Given the description of an element on the screen output the (x, y) to click on. 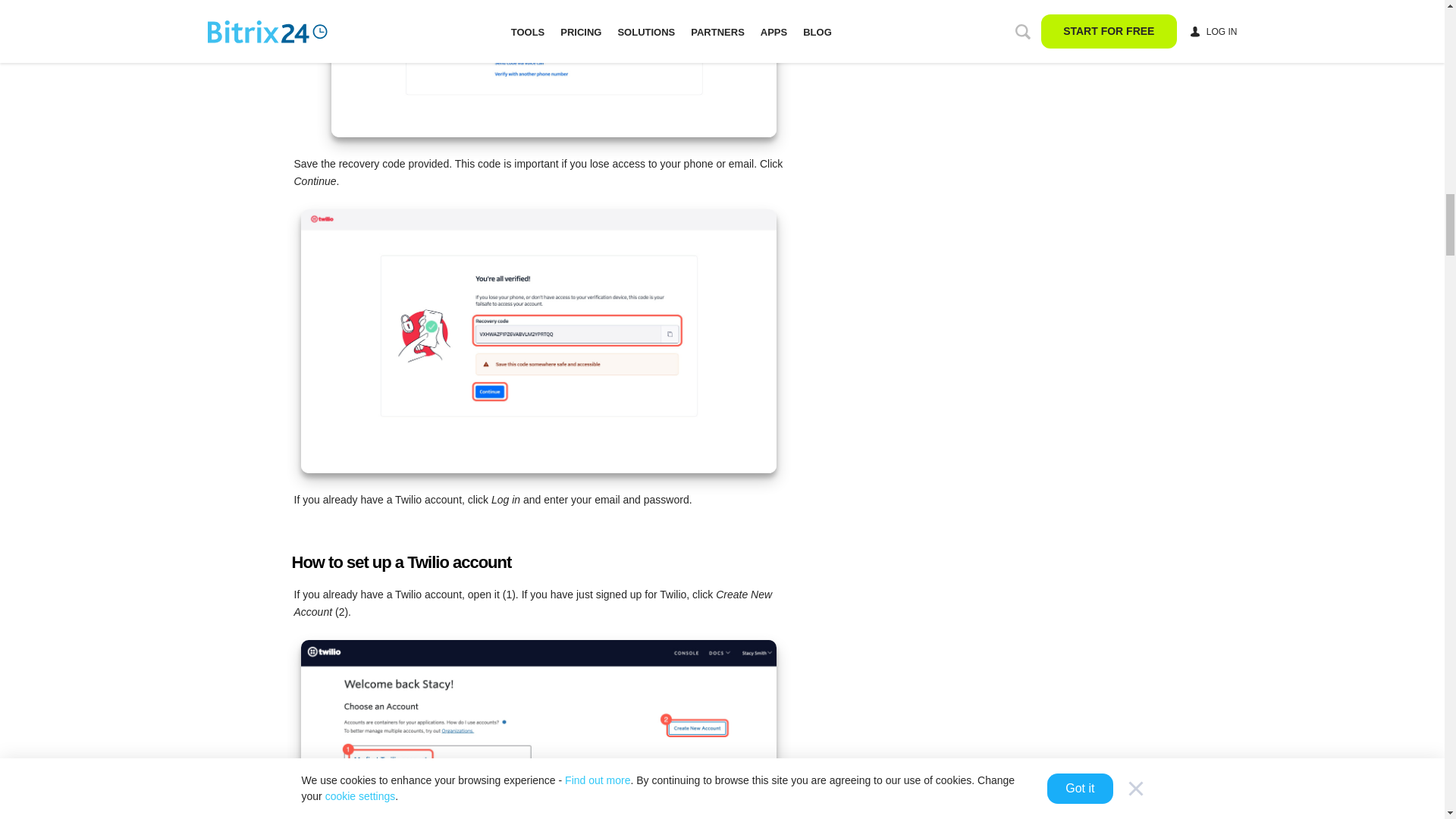
Recovery code (537, 341)
Choose an account (537, 729)
Verify (553, 68)
